Given the description of an element on the screen output the (x, y) to click on. 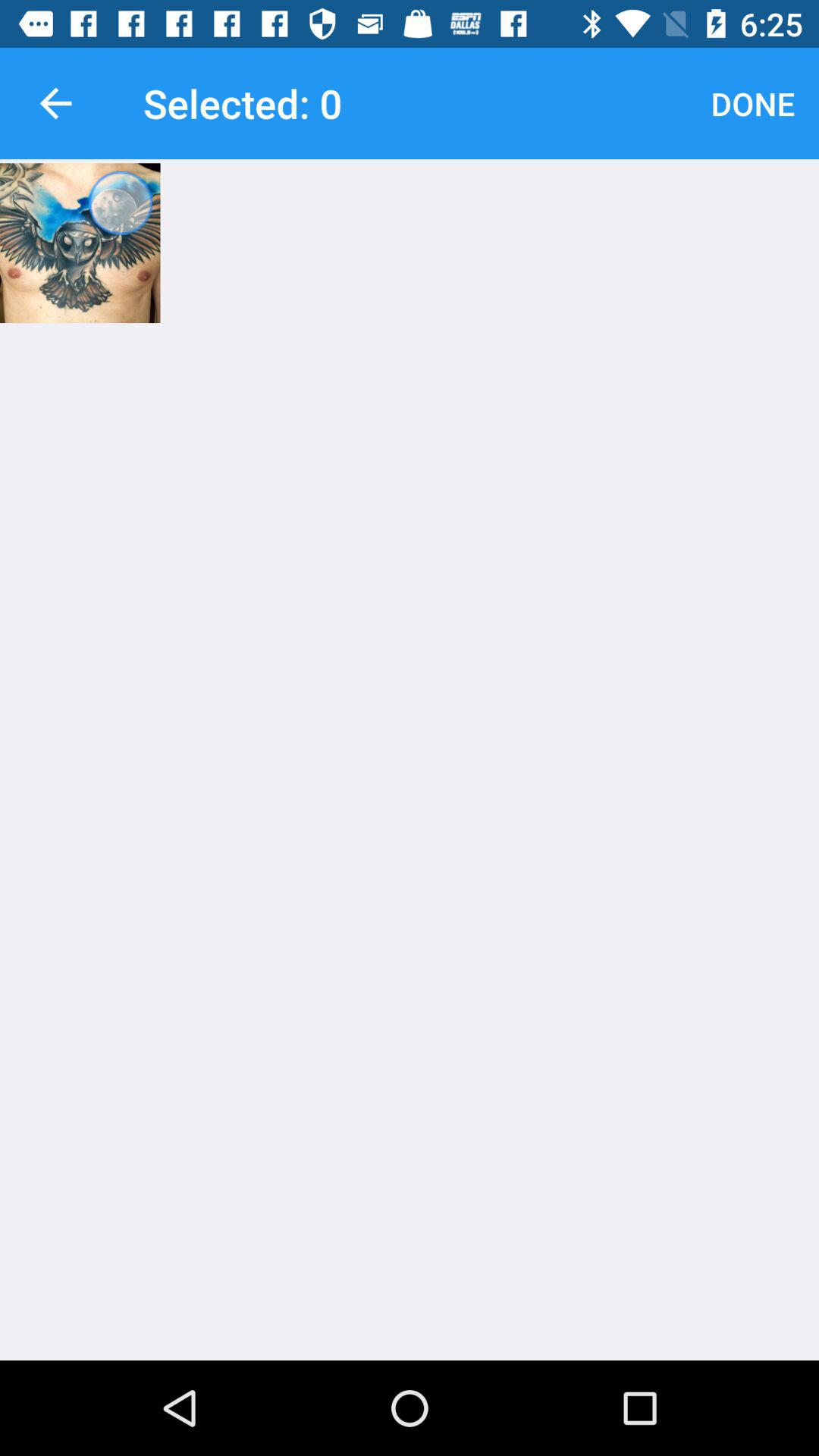
click item at the top right corner (753, 103)
